Given the description of an element on the screen output the (x, y) to click on. 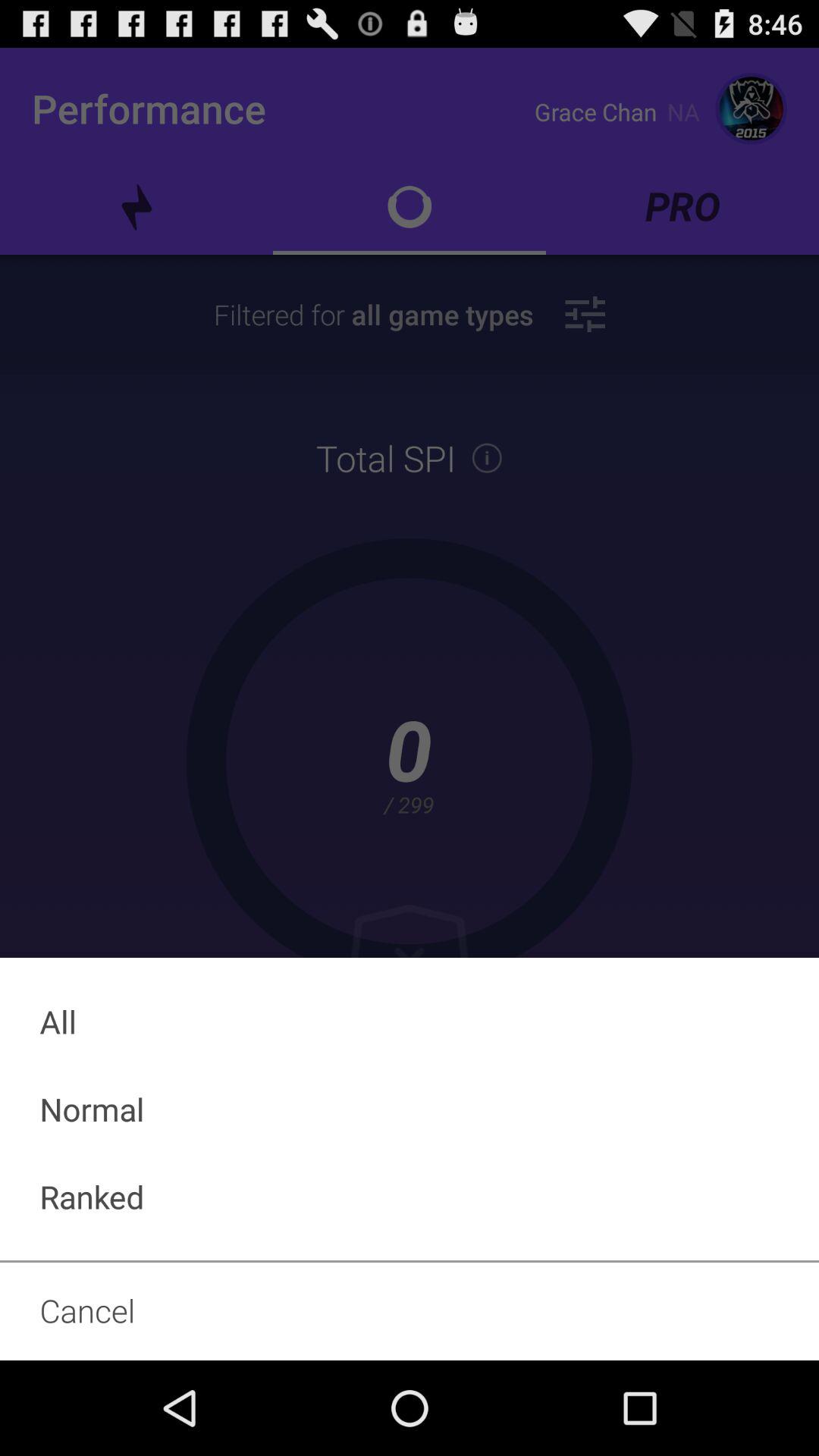
launch normal (409, 1108)
